Given the description of an element on the screen output the (x, y) to click on. 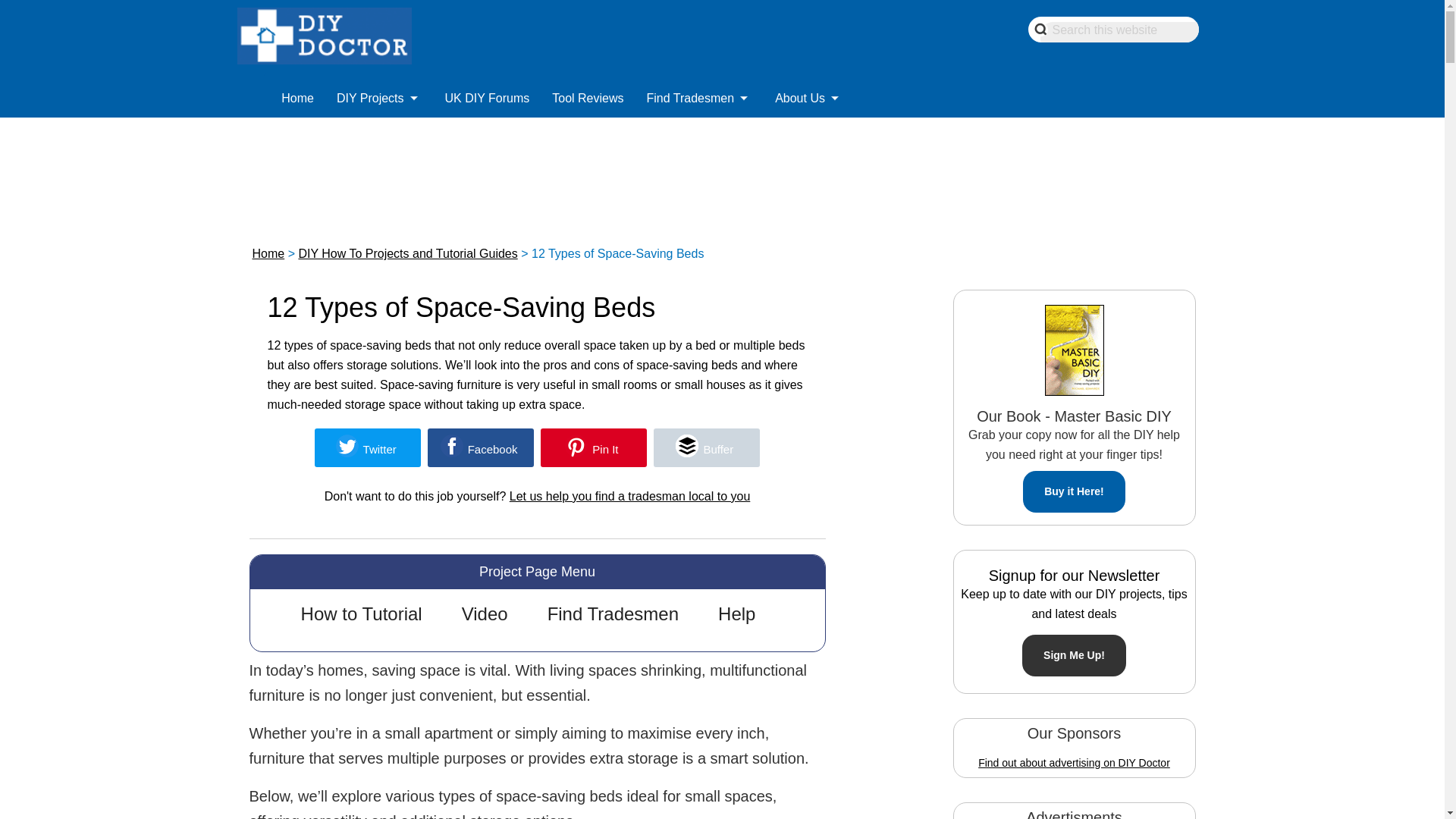
Tool Reviews (587, 100)
DIY Doctor DIY help and advice (296, 94)
Find Tradesmen (699, 94)
DIY Projects (378, 94)
UK DIY Forums (487, 100)
UK DIY Forums (487, 94)
Tool Reviews (587, 94)
Find Tradesmen (699, 100)
Home (296, 100)
Home (296, 94)
DIY Projects (378, 100)
